Given the description of an element on the screen output the (x, y) to click on. 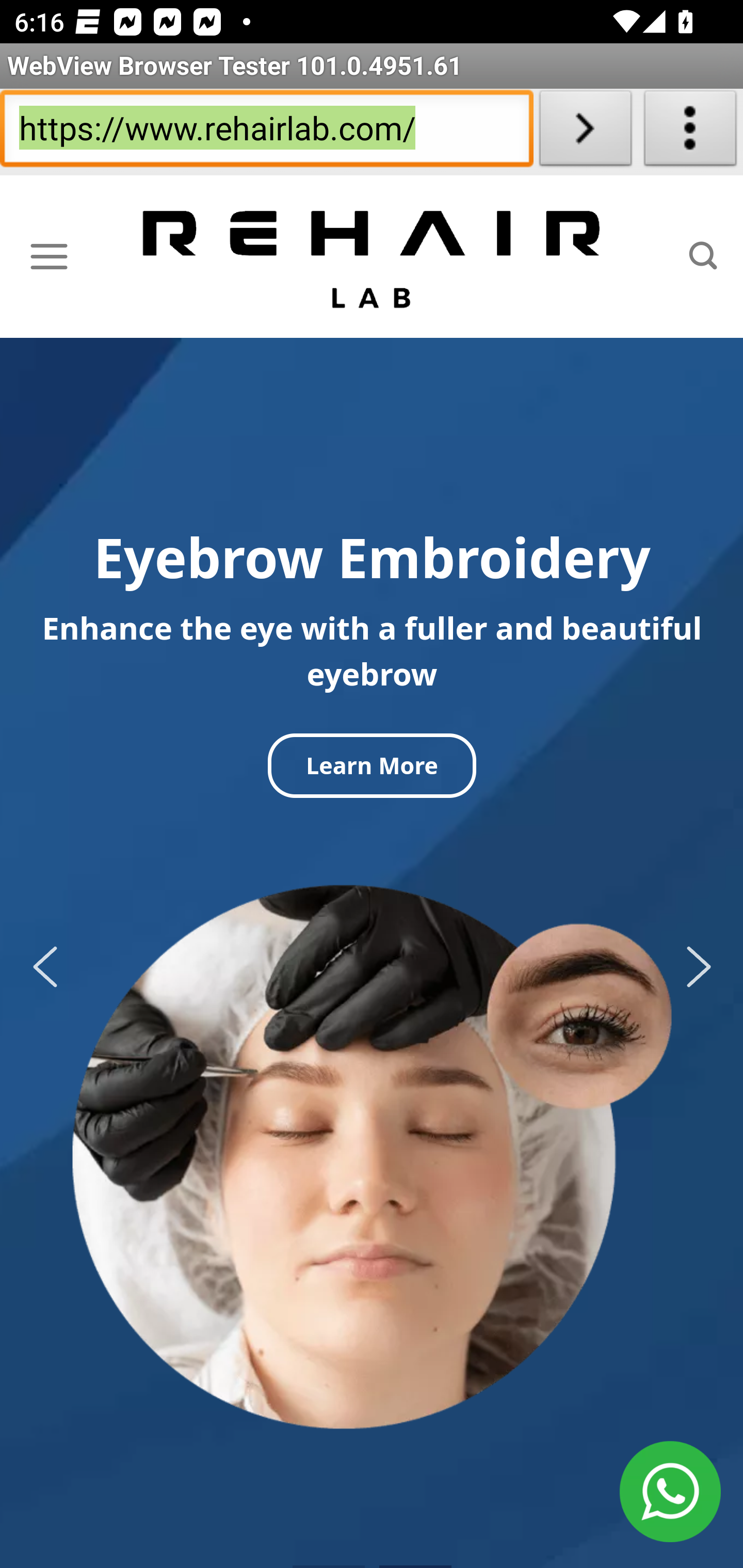
https://www.rehairlab.com/ (266, 132)
Load URL (585, 132)
About WebView (690, 132)
Rehair Lab (372, 256)
Menu  (48, 256)
Search  (703, 256)
Learn More (372, 764)
previous arrow (50, 967)
next arrow (692, 967)
